Given the description of an element on the screen output the (x, y) to click on. 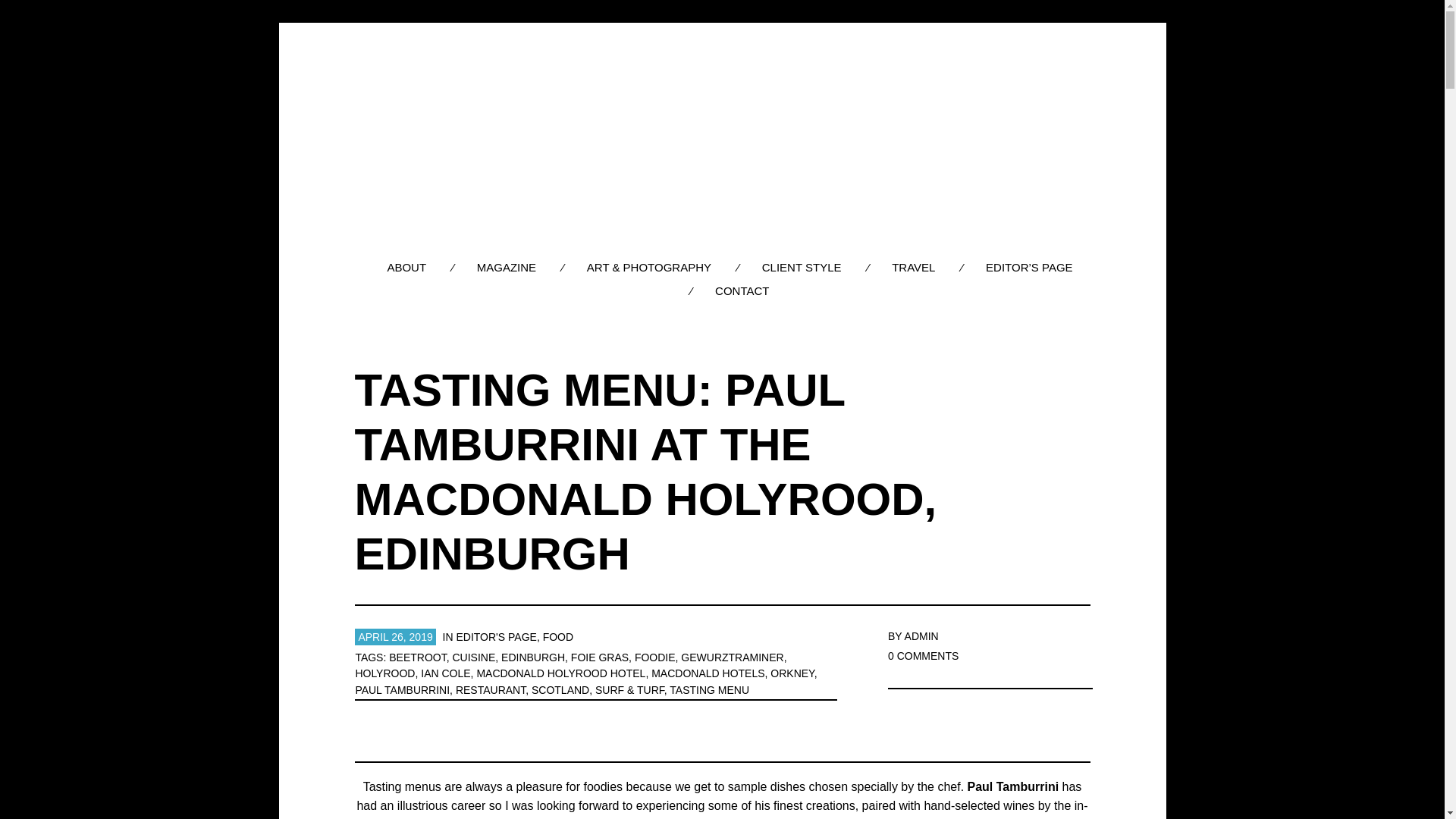
MAGAZINE (506, 267)
SCOTLAND (560, 689)
FOIE GRAS (599, 657)
ABOUT (406, 267)
TASTING MENU (709, 689)
RESTAURANT (490, 689)
ADMIN (921, 635)
CONTACT (741, 290)
TRAVEL (913, 267)
EDINBURGH (532, 657)
